Given the description of an element on the screen output the (x, y) to click on. 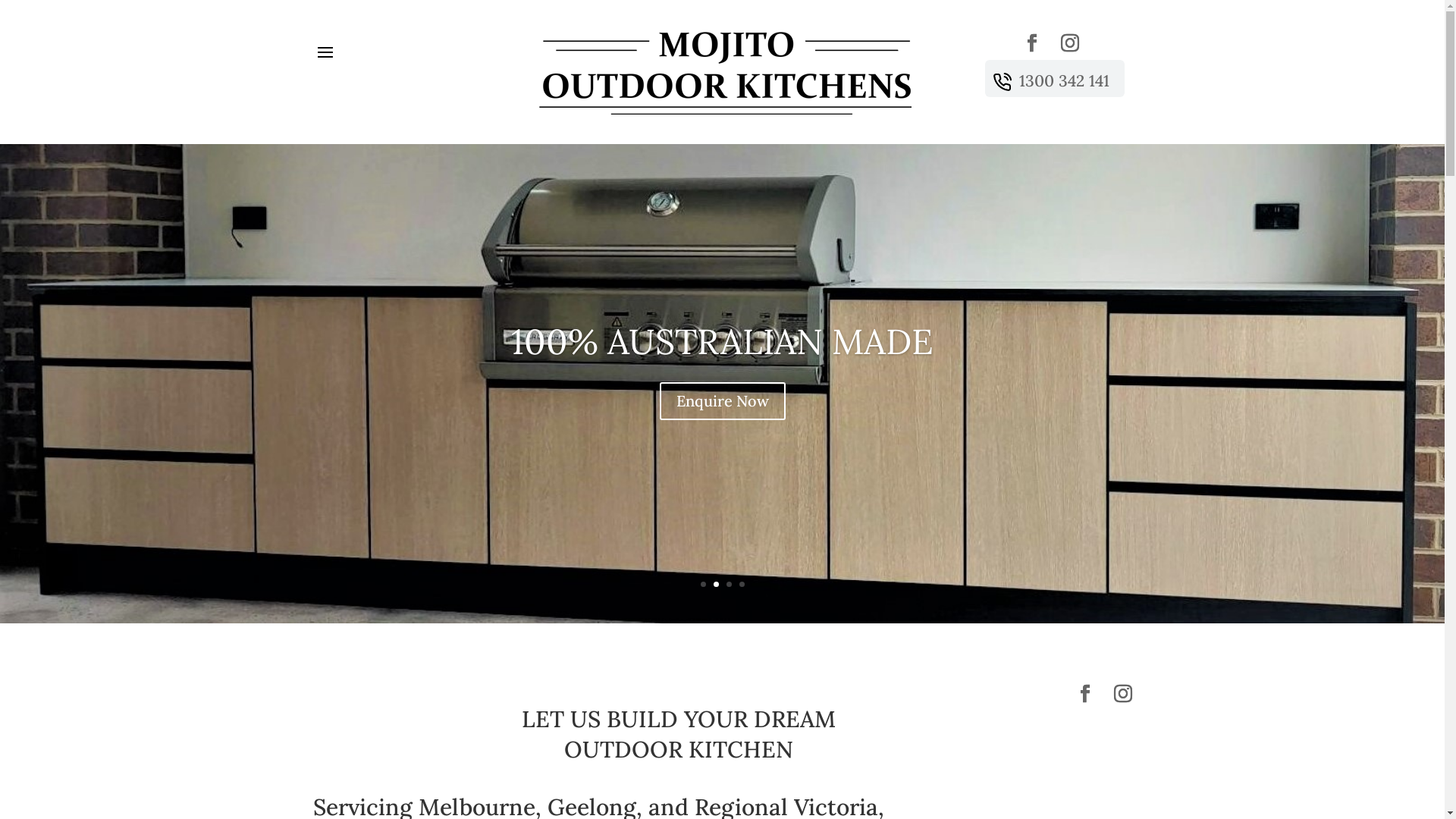
Enquire Now Element type: text (722, 401)
2 Element type: text (715, 583)
4 Element type: text (740, 583)
100% AUSTRALIAN MADE Element type: text (722, 342)
1 Element type: text (703, 583)
3 Element type: text (728, 583)
